Given the description of an element on the screen output the (x, y) to click on. 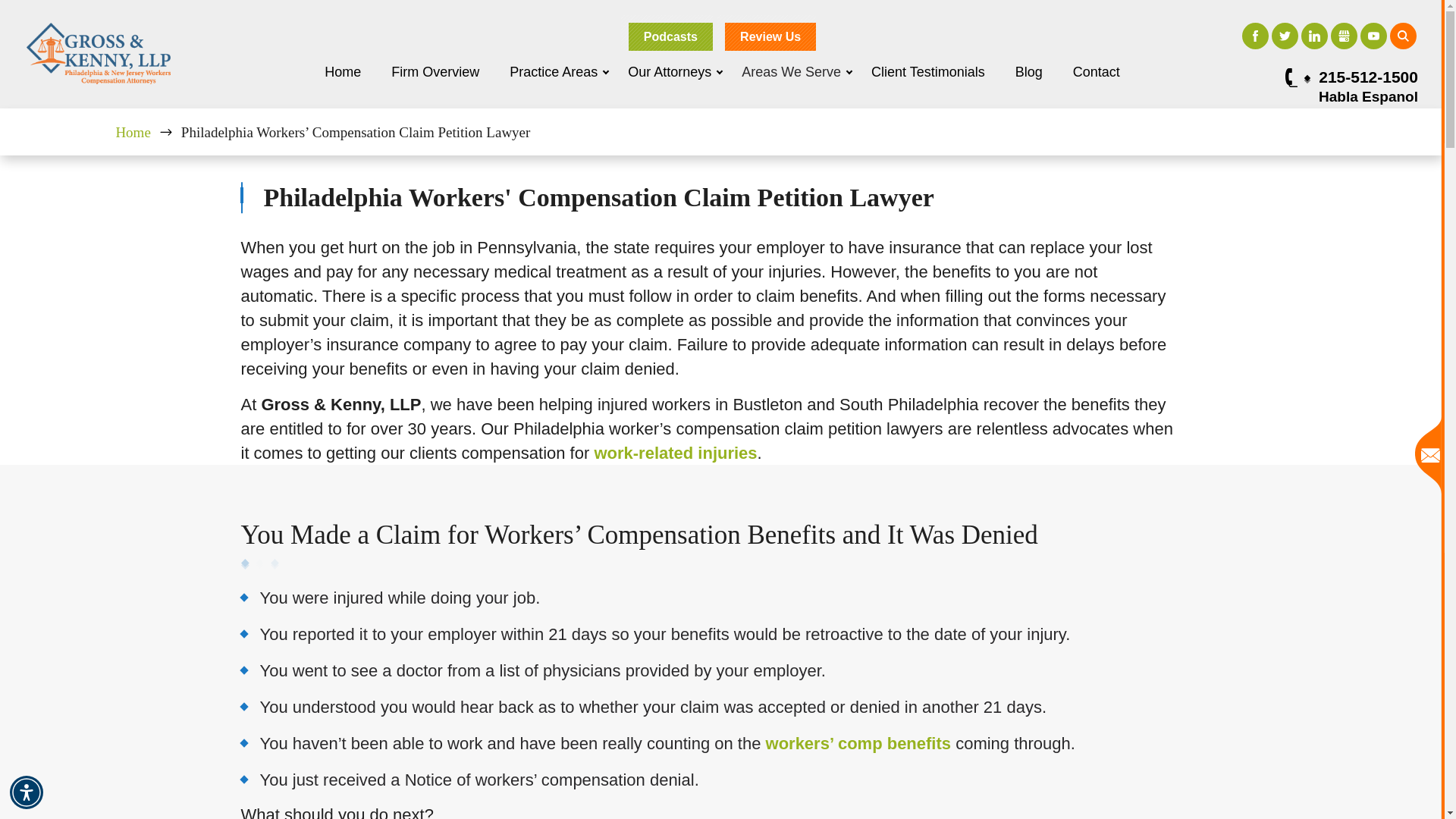
Review Us (770, 36)
Practice Areas (552, 71)
Podcasts (670, 36)
Home (342, 71)
Accessibility Menu (26, 792)
Firm Overview (435, 71)
